Given the description of an element on the screen output the (x, y) to click on. 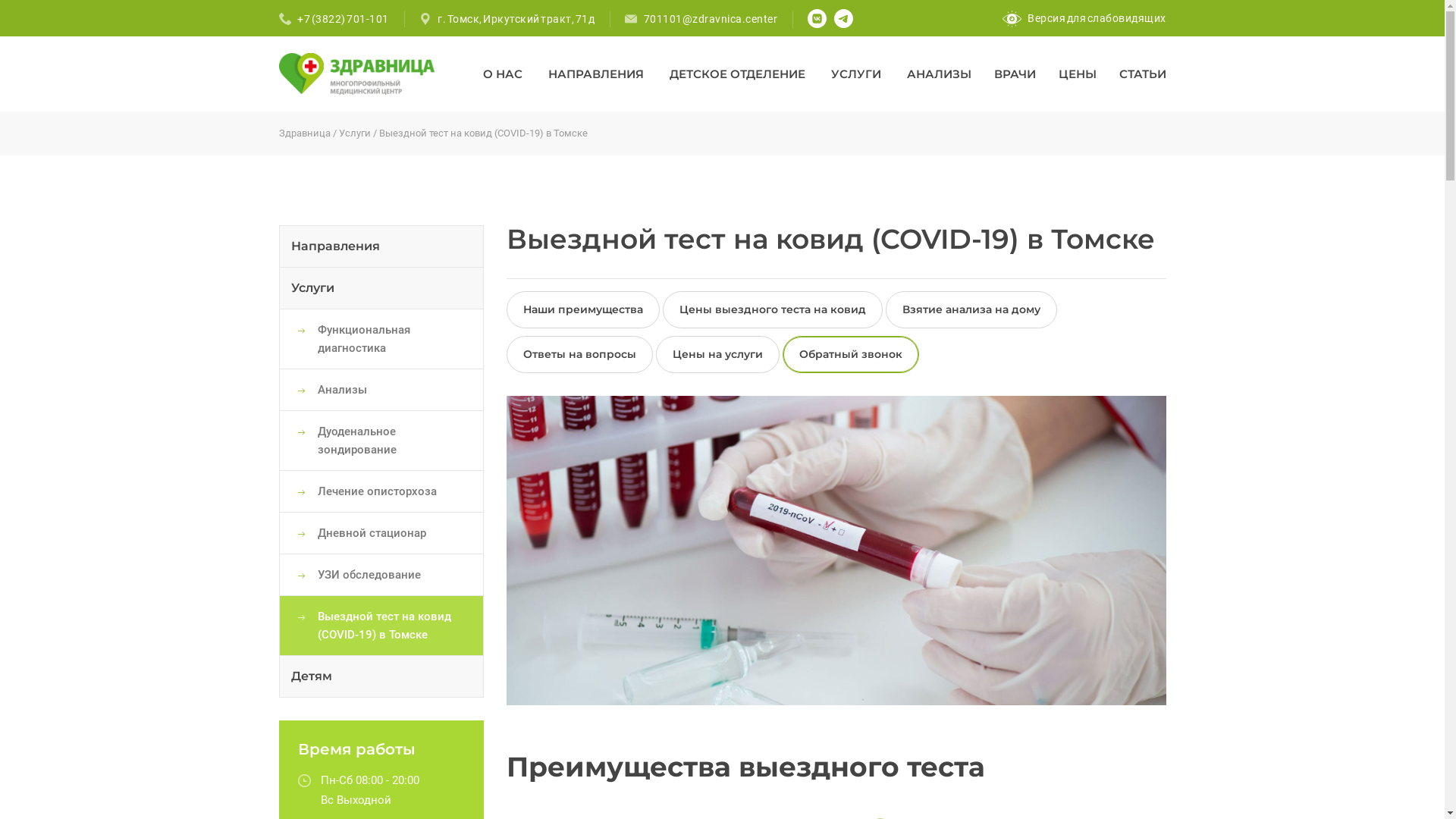
701101@zdravnica.center Element type: text (710, 18)
+7 (3822) 701-101 Element type: text (343, 18)
